Given the description of an element on the screen output the (x, y) to click on. 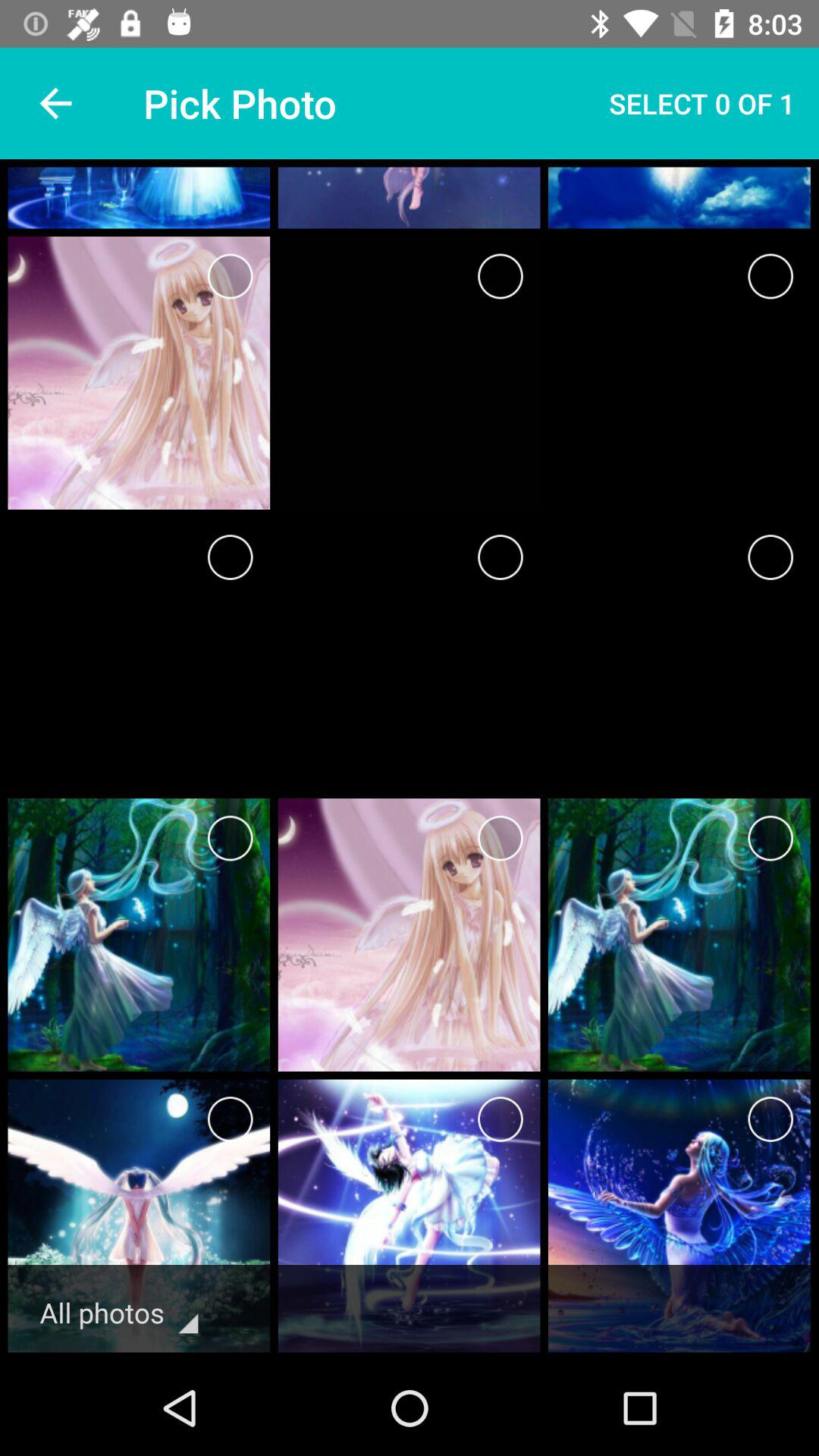
select photo (770, 838)
